Given the description of an element on the screen output the (x, y) to click on. 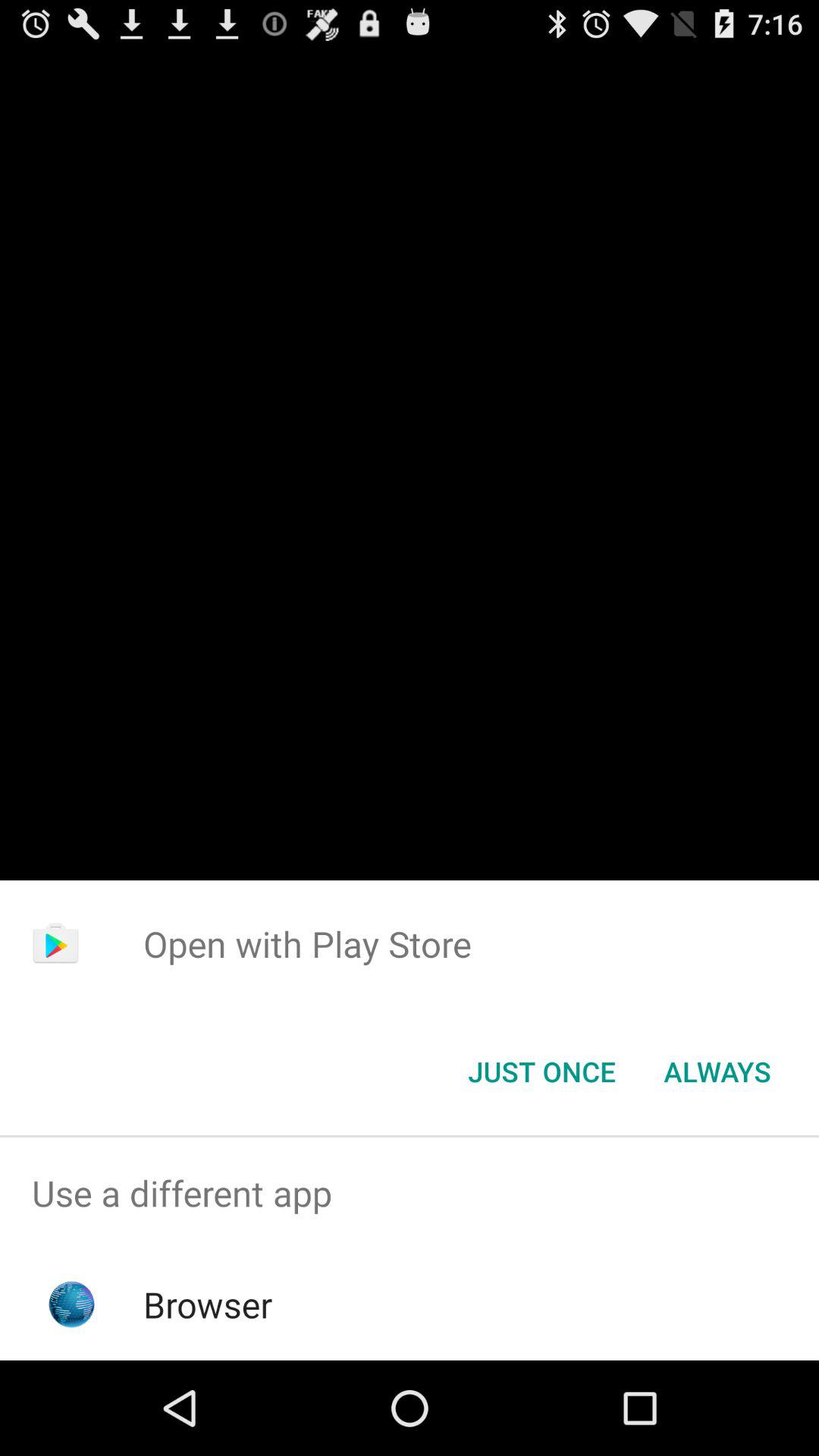
tap the item above the browser (409, 1192)
